Given the description of an element on the screen output the (x, y) to click on. 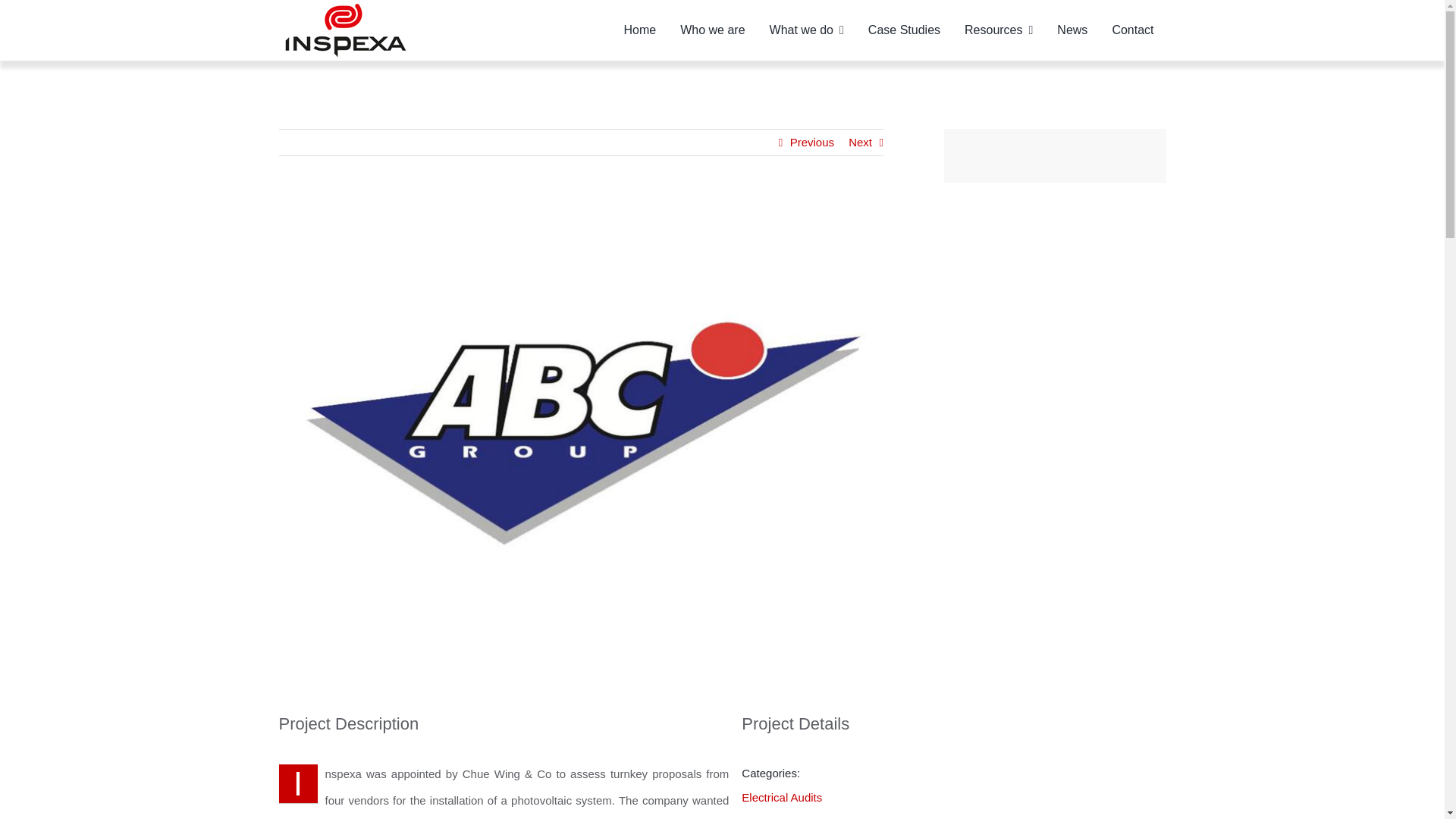
Case Studies (904, 30)
Electrical Audits (781, 797)
Previous (812, 142)
News (1072, 30)
Home (639, 30)
Next (860, 142)
Resources (998, 30)
What we do (806, 30)
logo (346, 30)
